Given the description of an element on the screen output the (x, y) to click on. 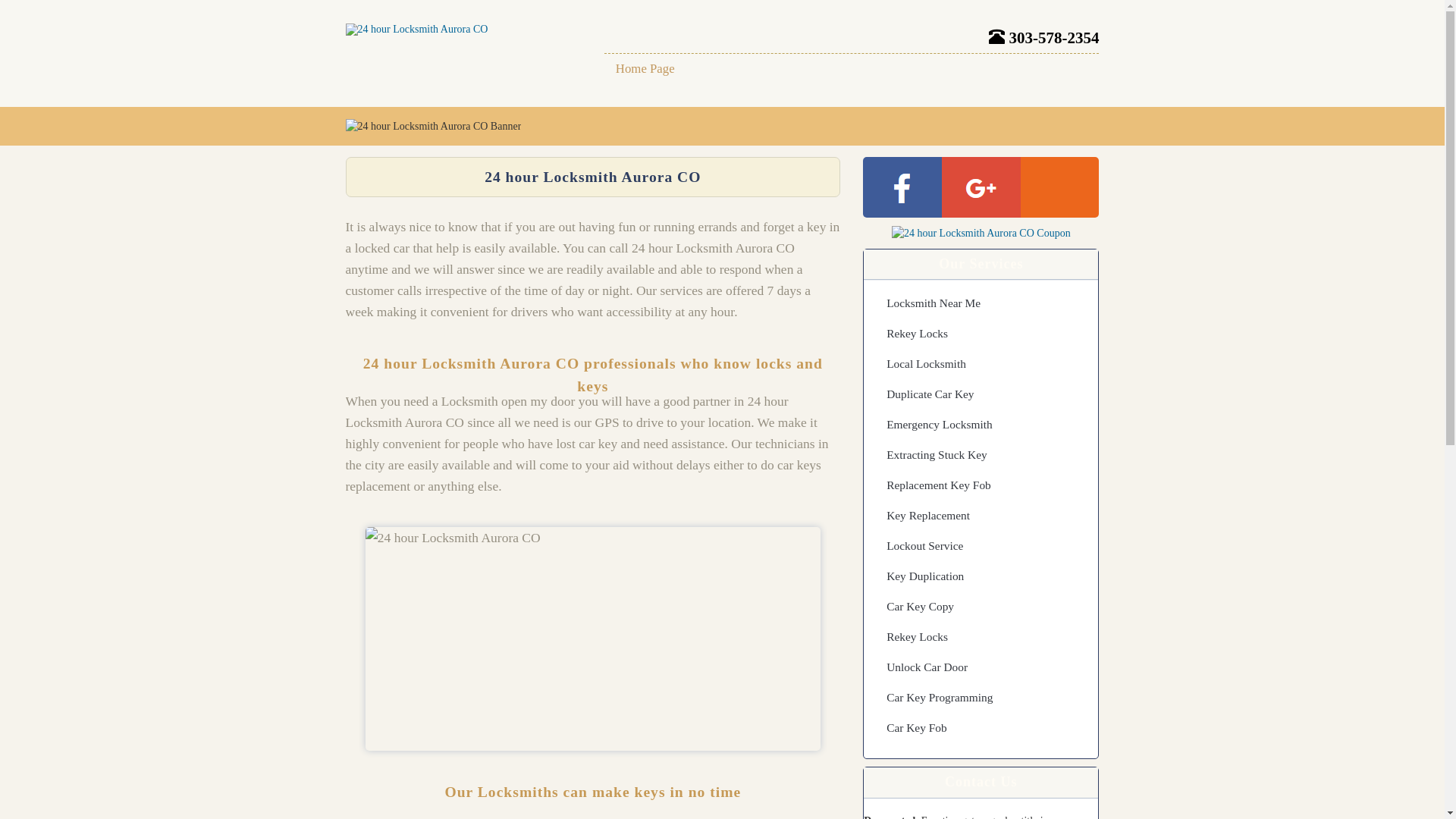
24 hour Locksmith Aurora CO Element type: hover (416, 28)
Home Page Element type: text (645, 68)
303-578-2354 Element type: text (1043, 37)
